Given the description of an element on the screen output the (x, y) to click on. 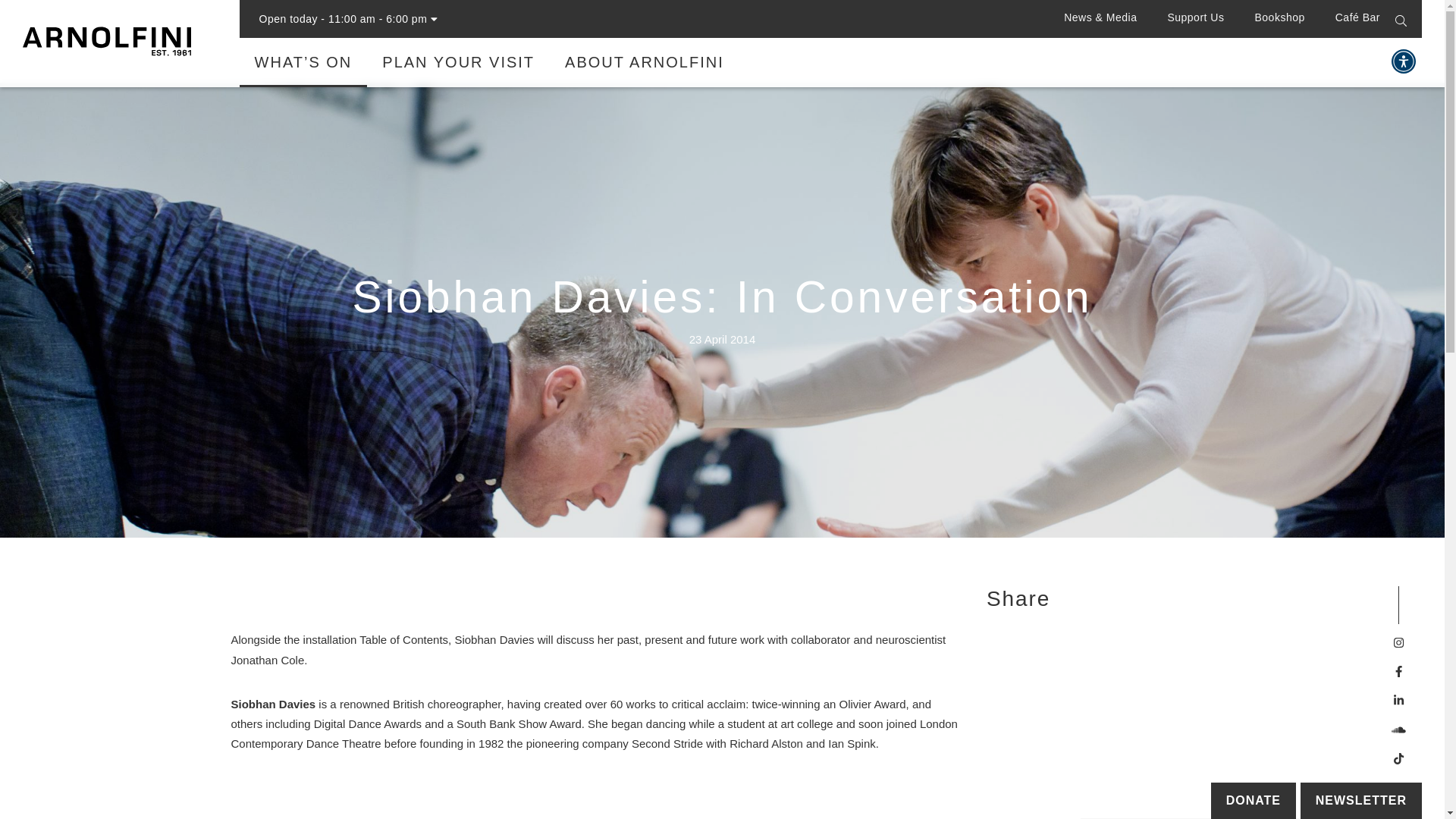
Bookshop (1279, 24)
Open Search form (1408, 13)
Accessibility Menu (1403, 61)
Support Us (1195, 24)
ABOUT ARNOLFINI (644, 70)
Open today - 11:00 am - 6:00 pm (348, 18)
PLAN YOUR VISIT (458, 70)
